Given the description of an element on the screen output the (x, y) to click on. 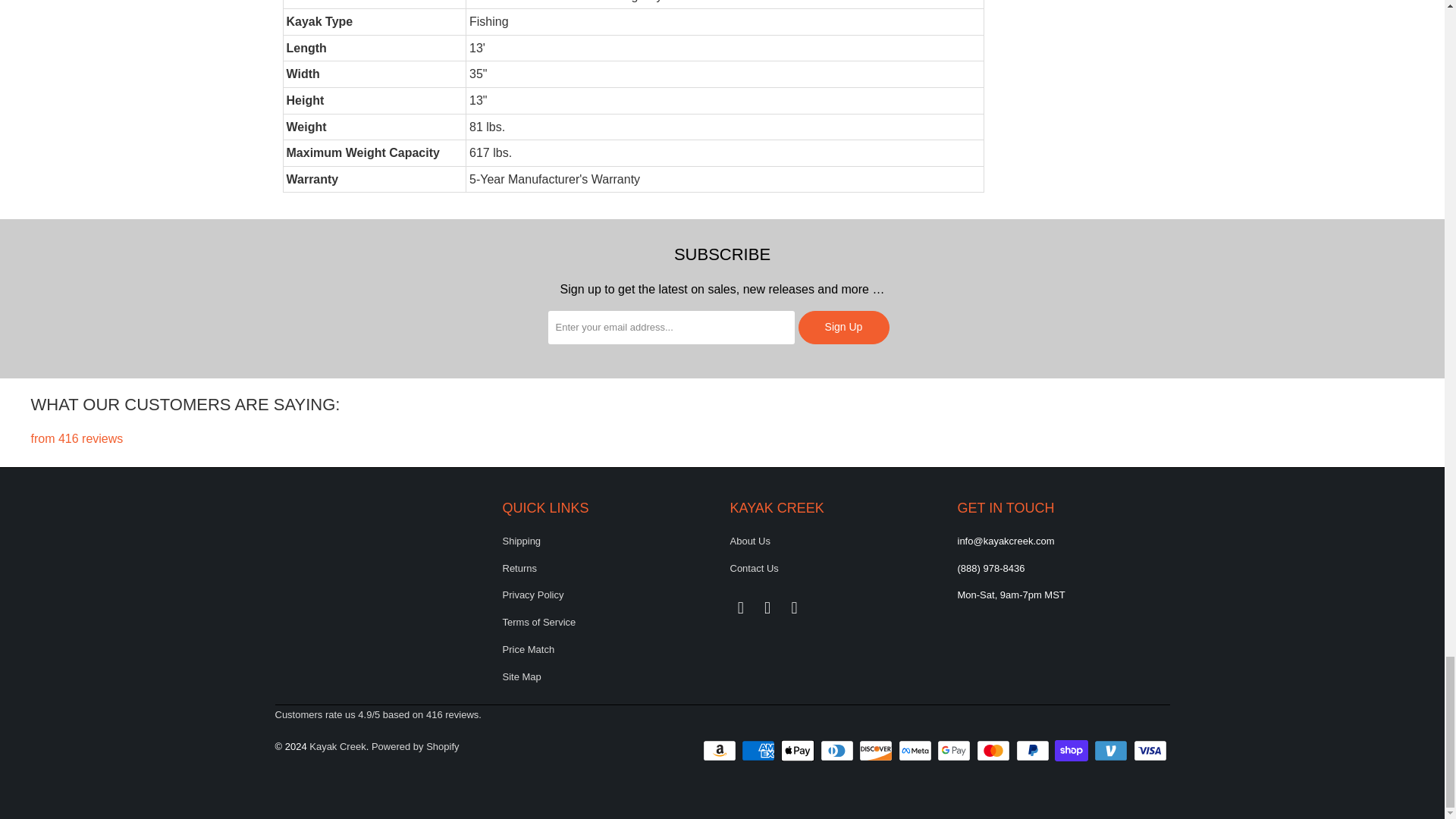
Sign Up (842, 327)
Kayak Creek on Instagram (767, 607)
Apple Pay (798, 750)
Amazon (721, 750)
Diners Club (839, 750)
Shop Pay (1072, 750)
Meta Pay (916, 750)
Kayak Creek on Facebook (740, 607)
American Express (759, 750)
Venmo (1112, 750)
Visa (1150, 750)
Discover (877, 750)
Email Kayak Creek (794, 607)
PayPal (1034, 750)
Google Pay (955, 750)
